Given the description of an element on the screen output the (x, y) to click on. 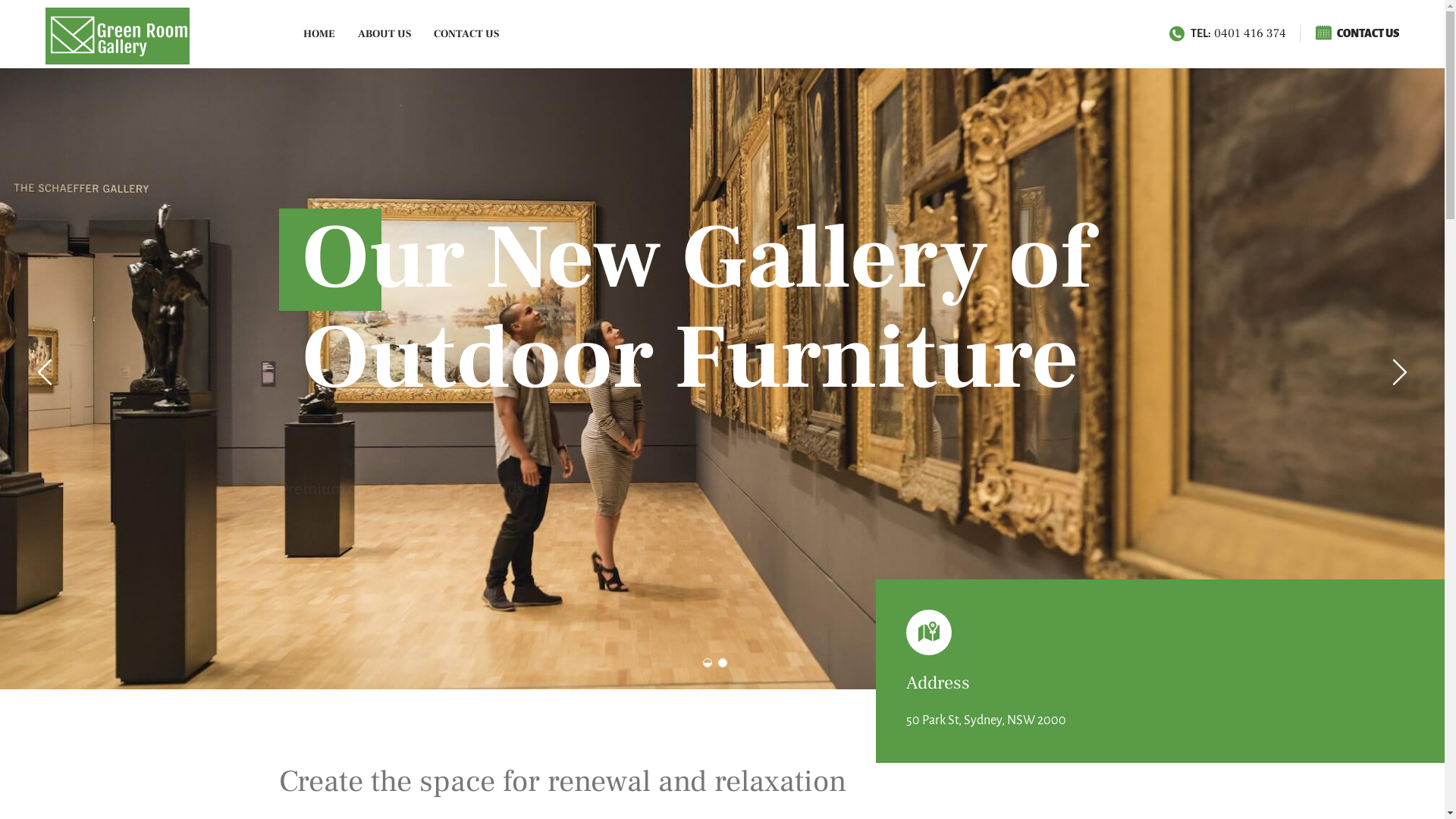
HOME Element type: text (319, 34)
CONTACT US Element type: text (1357, 32)
CONTACT US Element type: text (465, 34)
ABOUT US Element type: text (384, 34)
